Given the description of an element on the screen output the (x, y) to click on. 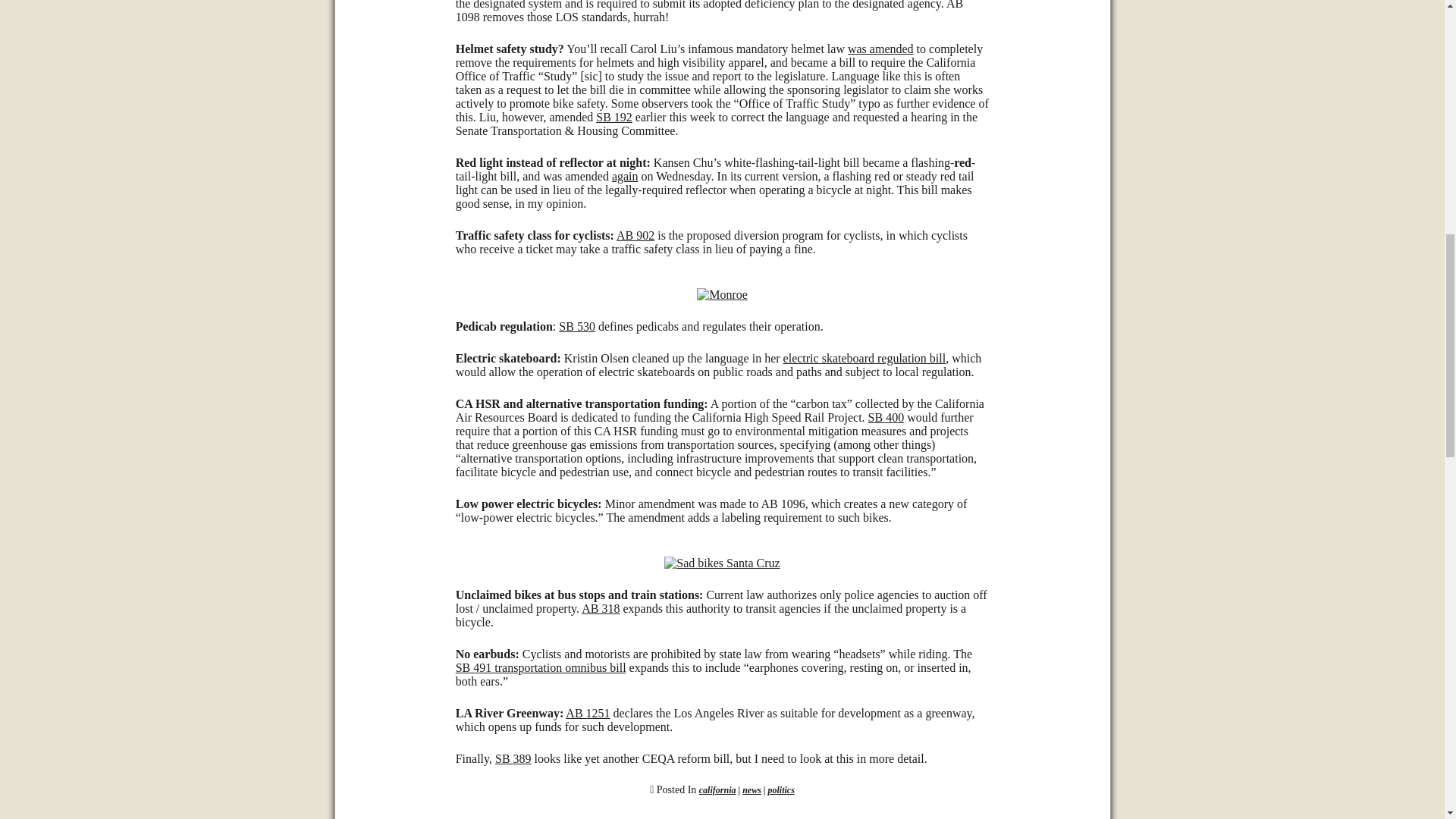
SB 530 (577, 326)
news (751, 789)
again (625, 175)
was amended (880, 48)
politics (780, 789)
electric skateboard regulation bill (864, 358)
Monroe by Richard Masoner, on Flickr (722, 294)
SB 389 (513, 758)
SB 491 transportation omnibus bill (540, 667)
SB 192 (613, 116)
